Given the description of an element on the screen output the (x, y) to click on. 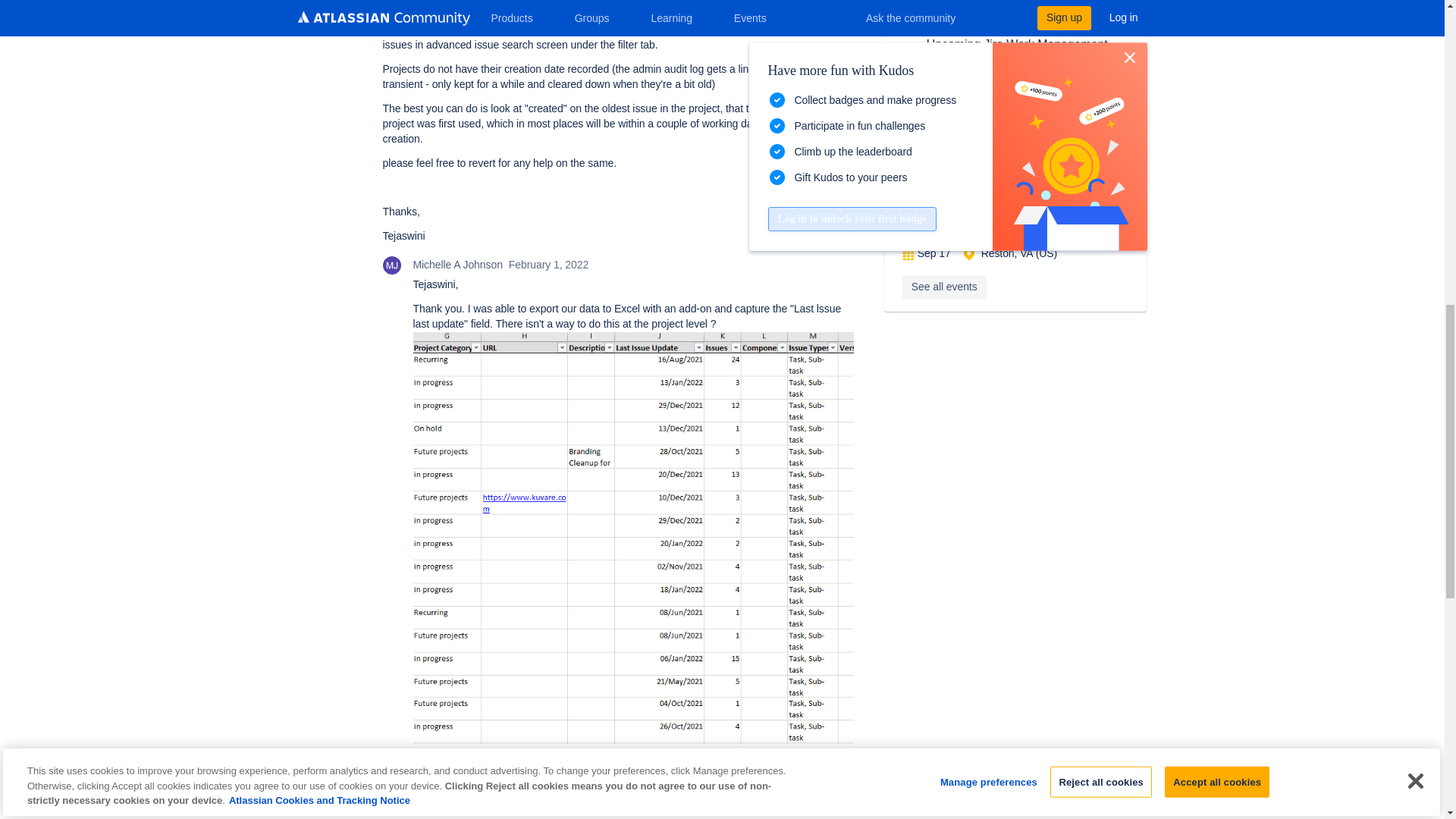
Michelle A Johnson (390, 265)
AUG Leaders (911, 54)
